Given the description of an element on the screen output the (x, y) to click on. 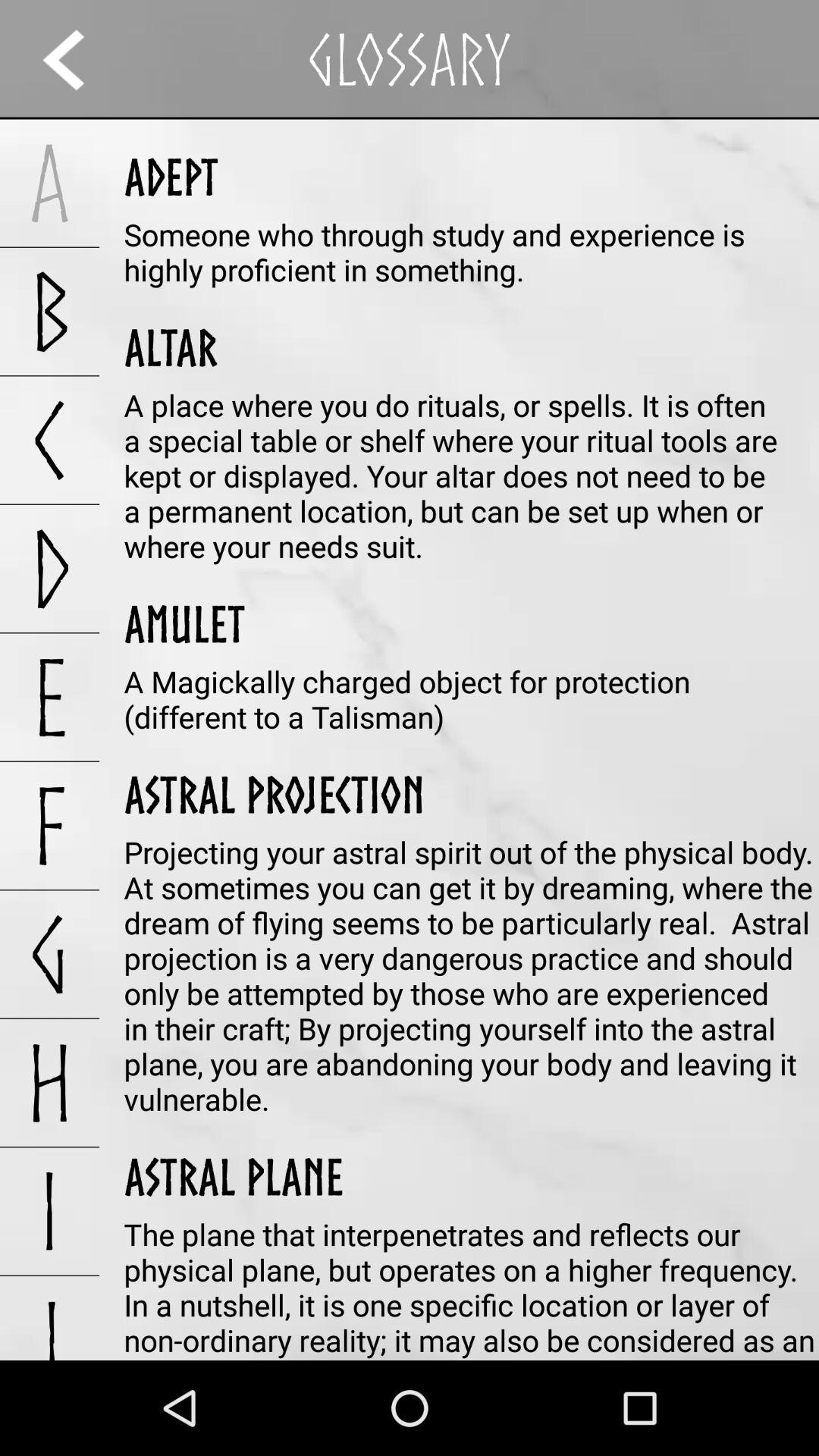
launch the app above j app (49, 1211)
